Given the description of an element on the screen output the (x, y) to click on. 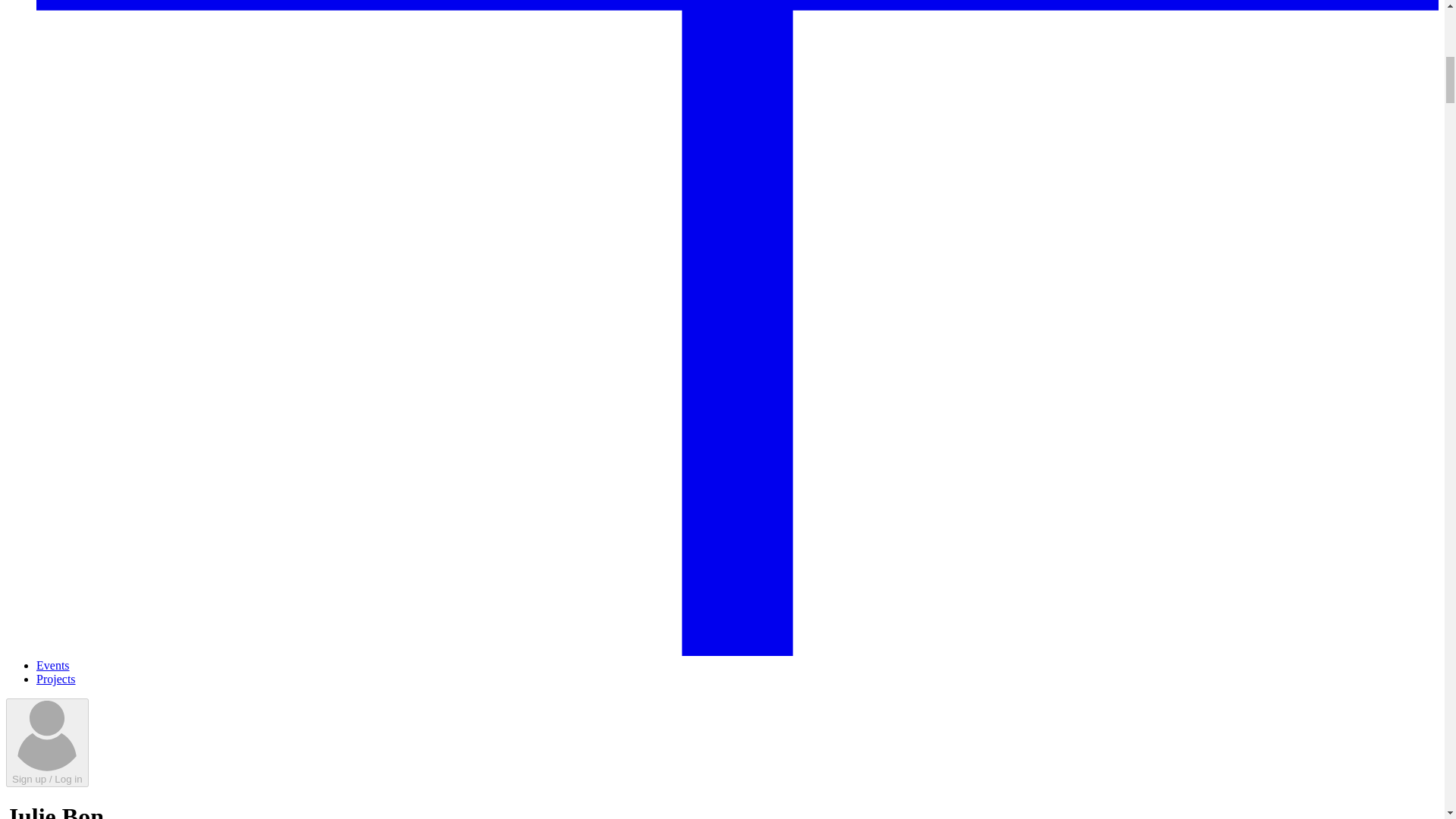
Projects (55, 678)
Events (52, 665)
